Given the description of an element on the screen output the (x, y) to click on. 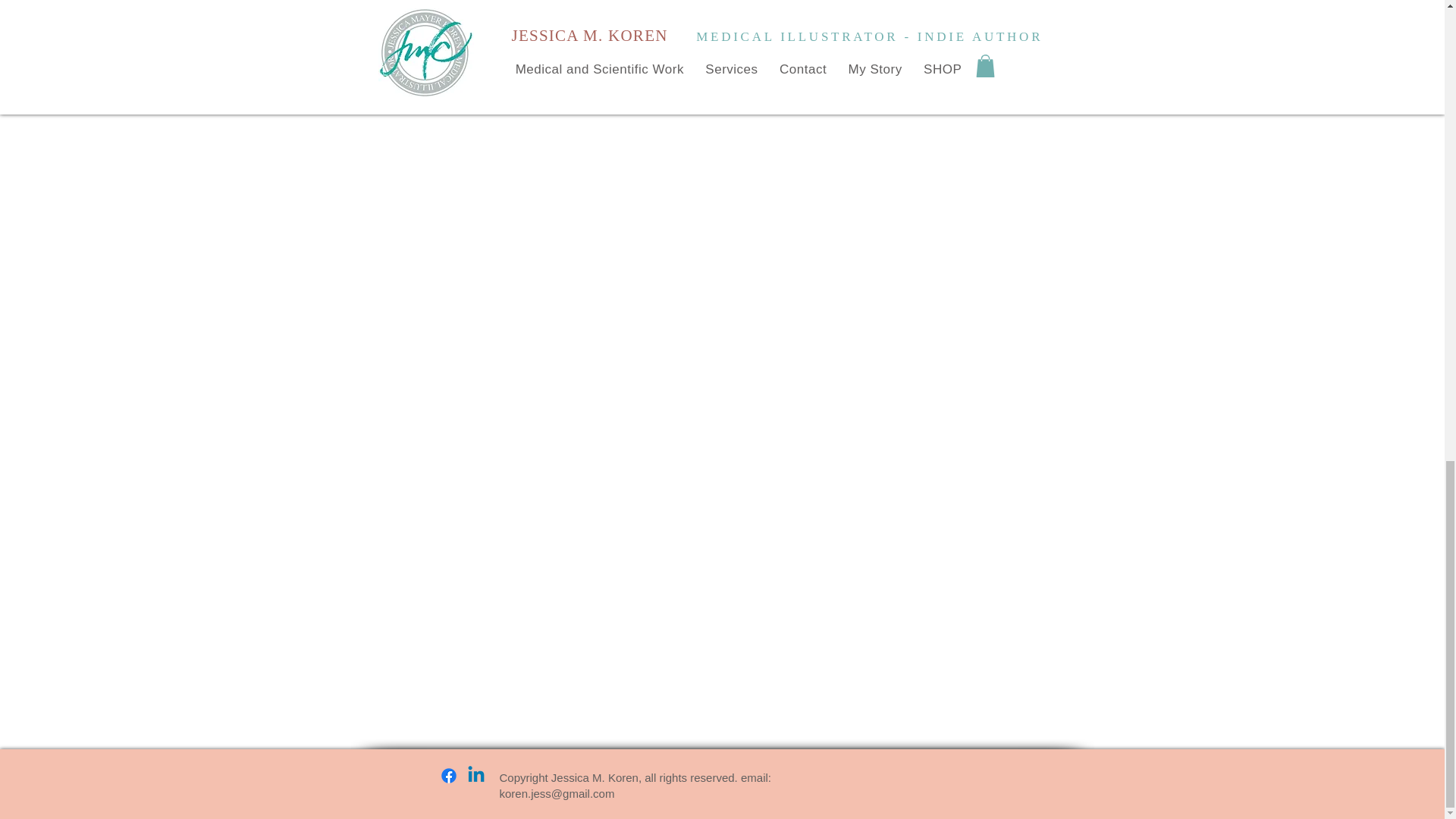
Post not marked as liked (834, 28)
